Given the description of an element on the screen output the (x, y) to click on. 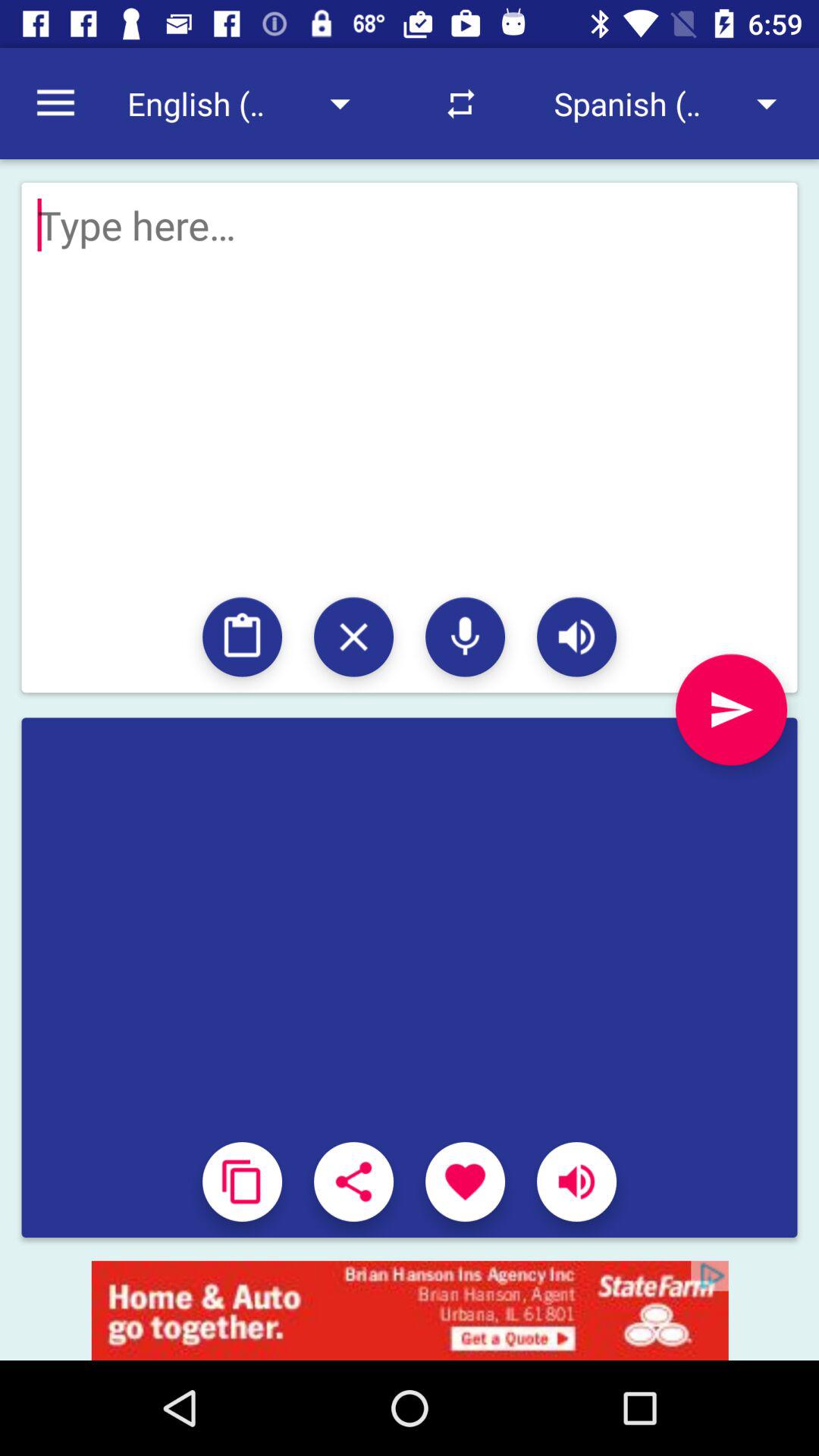
fill in the comment box (409, 761)
